Given the description of an element on the screen output the (x, y) to click on. 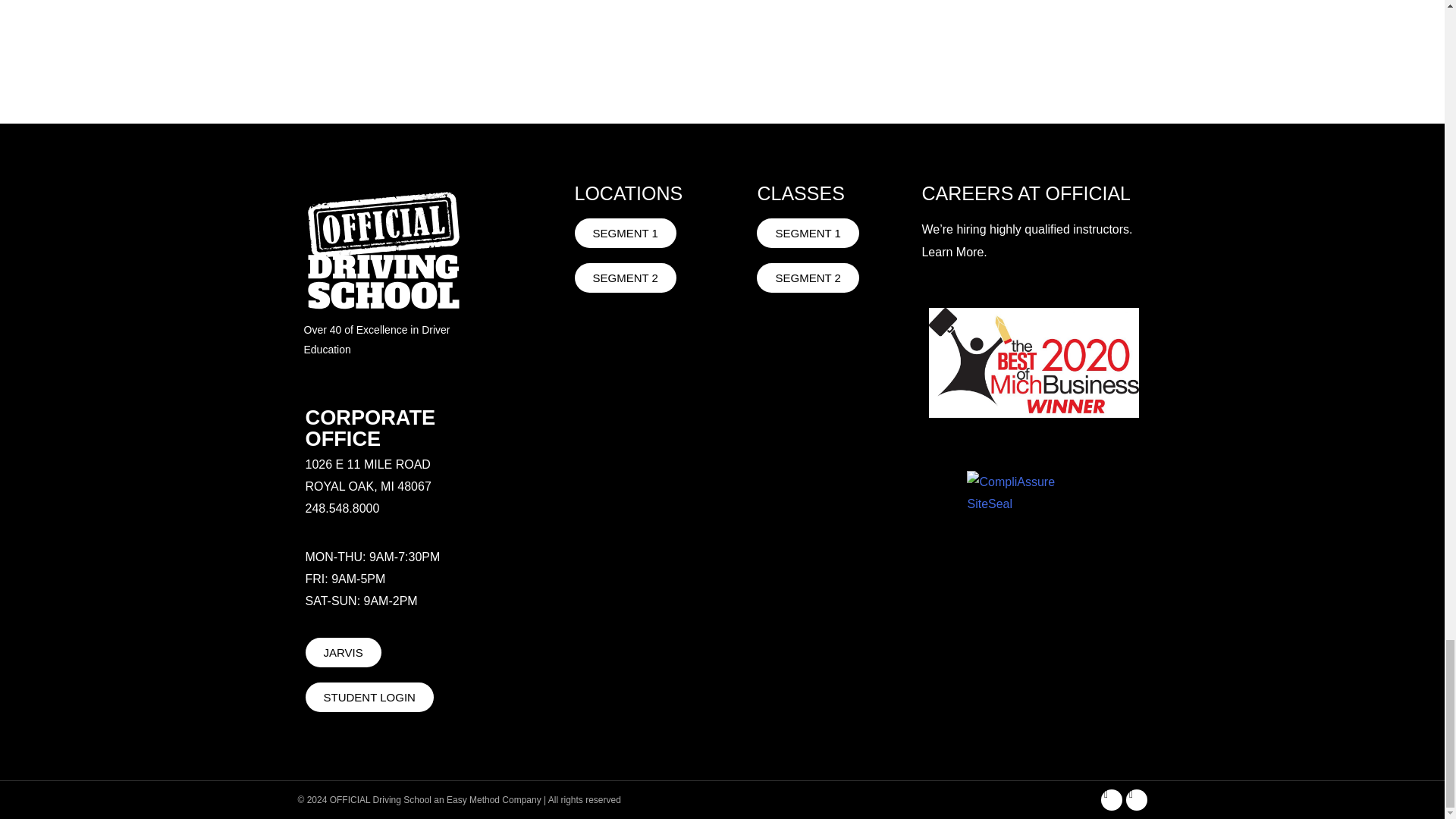
JARVIS (342, 652)
SEGMENT 1 (808, 233)
SEGMENT 2 (808, 277)
SEGMENT 2 (626, 277)
SEGMENT 1 (626, 233)
STUDENT LOGIN (368, 696)
